Given the description of an element on the screen output the (x, y) to click on. 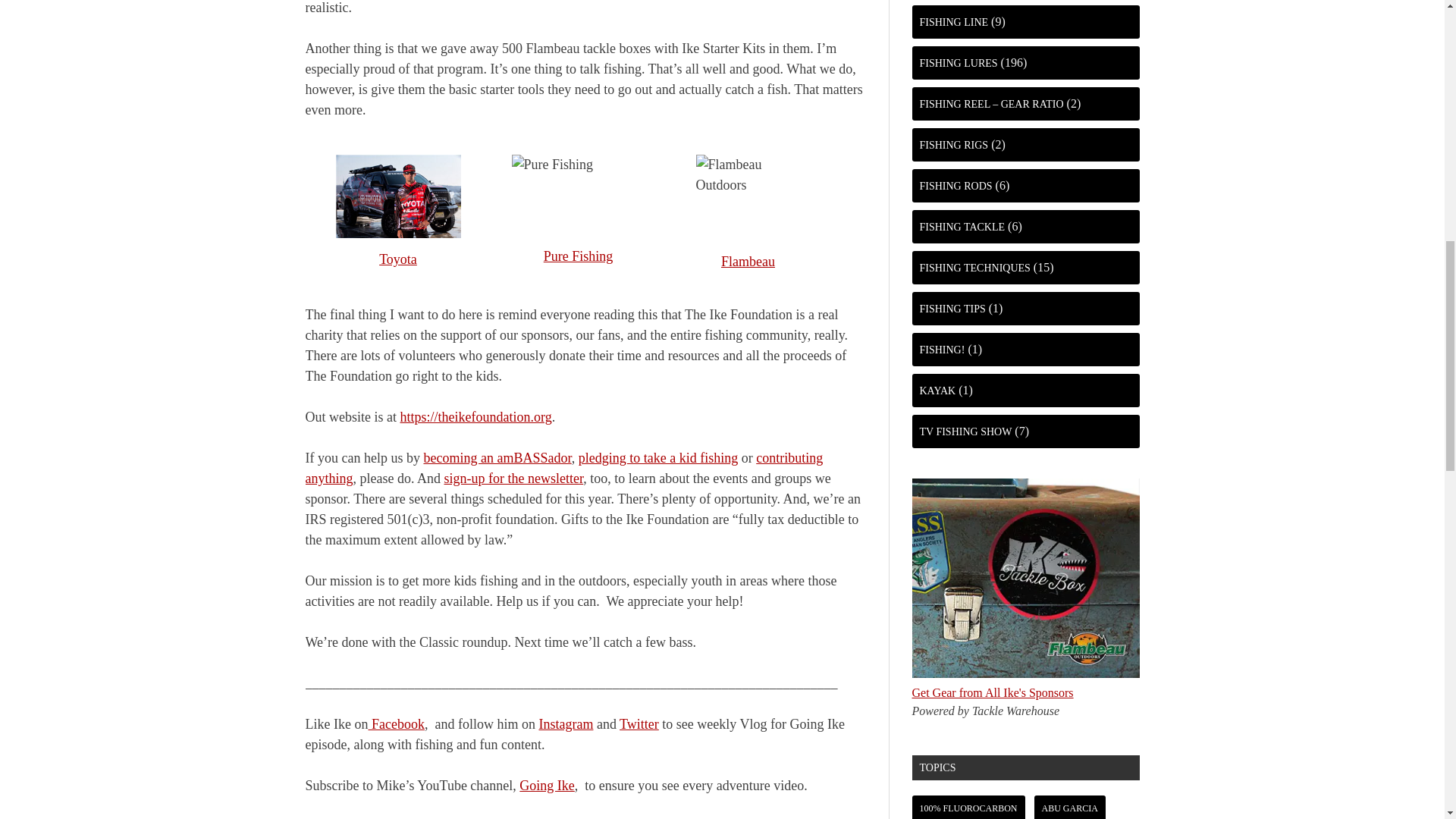
pledging to take a kid fishing (658, 458)
Twitter (639, 724)
becoming an amBASSador (496, 458)
Facebook (395, 724)
Pure Fishing (577, 255)
Going Ike (546, 785)
Flambeau (747, 261)
Toyota (397, 258)
contributing anything (563, 468)
Instagram (565, 724)
